Given the description of an element on the screen output the (x, y) to click on. 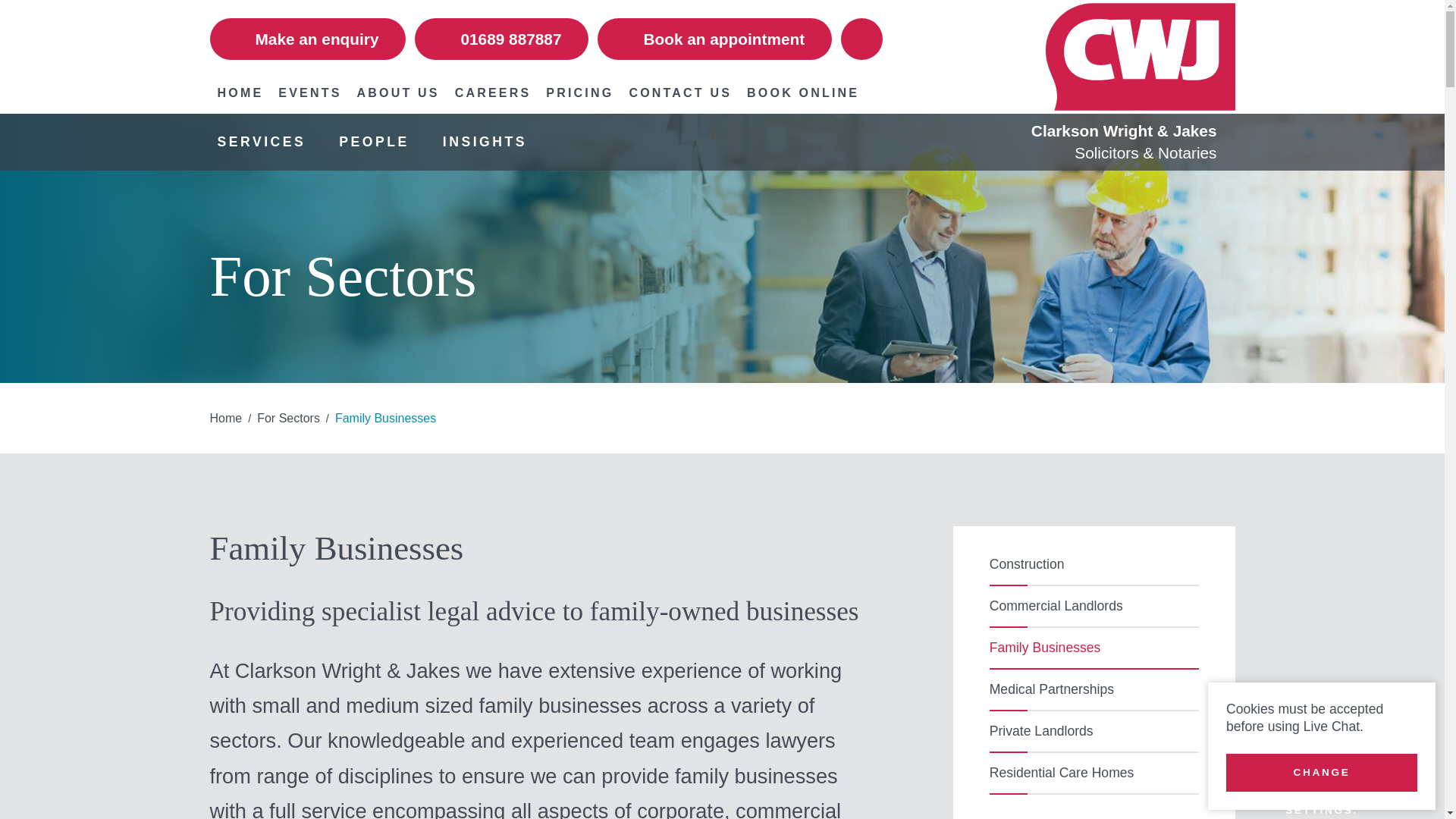
HOME (239, 92)
01689 887887 (501, 38)
Make an enquiry (307, 38)
Book an appointment (713, 38)
